Given the description of an element on the screen output the (x, y) to click on. 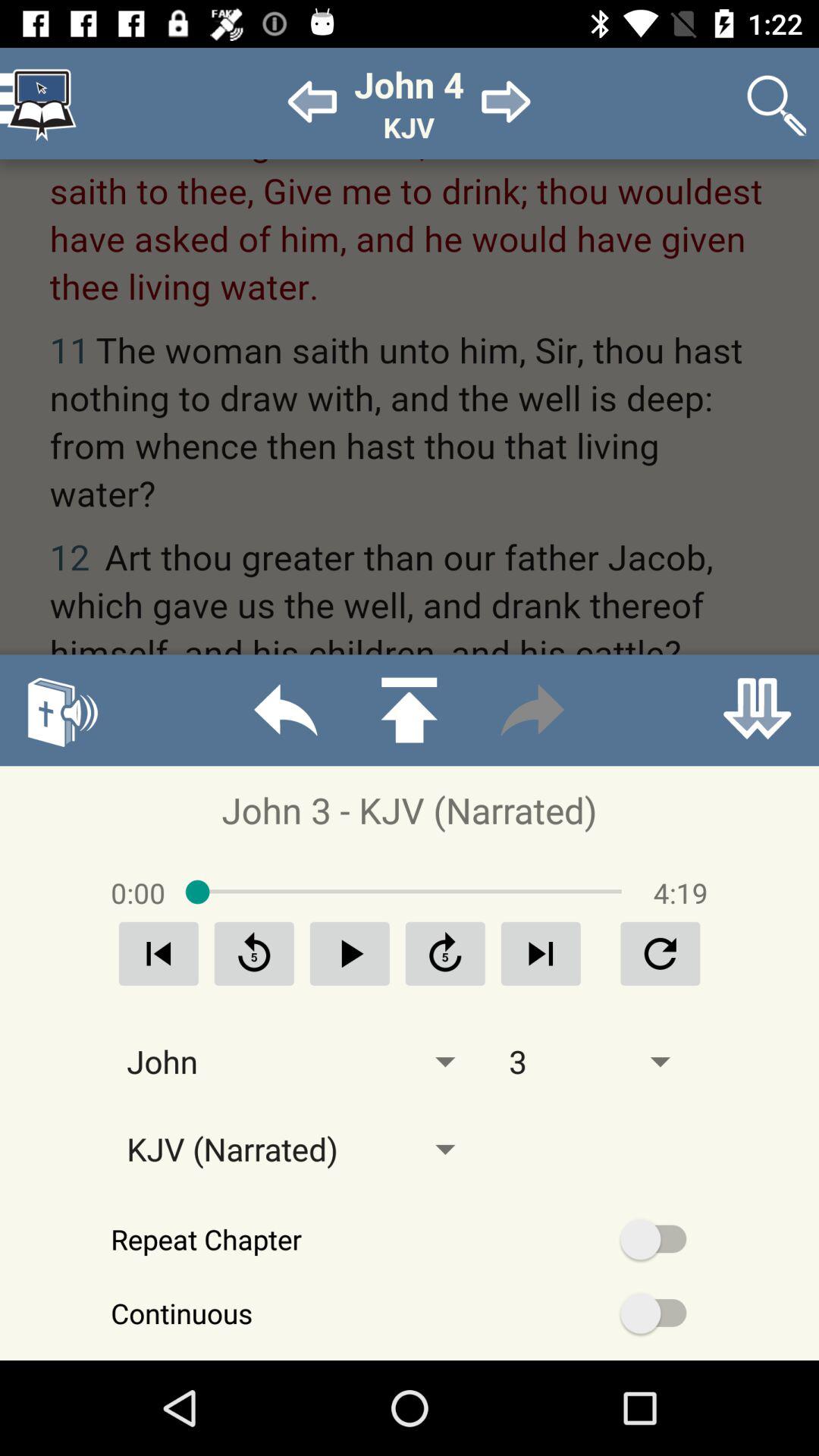
minimize window (757, 709)
